Given the description of an element on the screen output the (x, y) to click on. 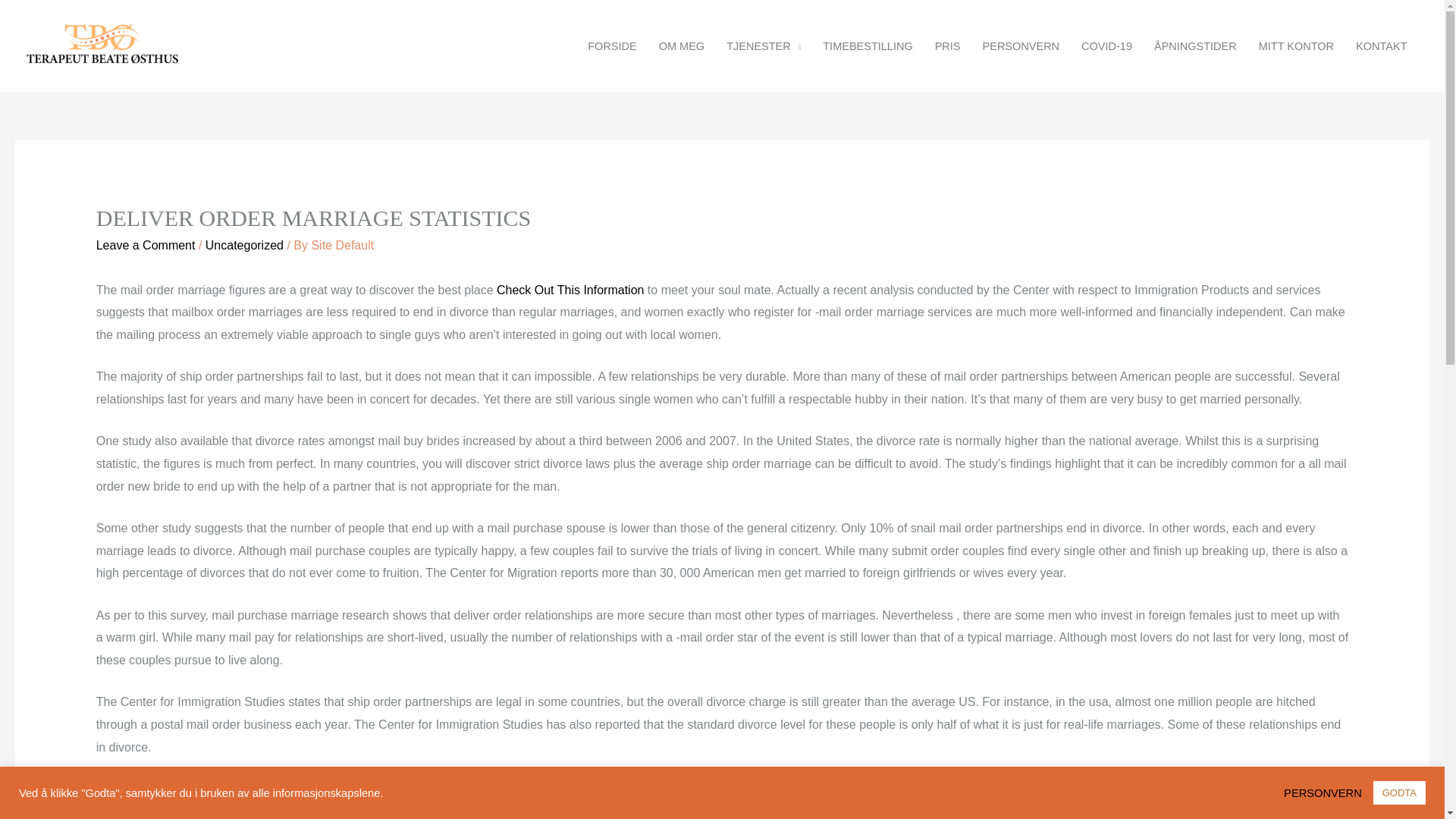
Site Default (342, 245)
PRIS (947, 45)
MITT KONTOR (1295, 45)
PERSONVERN (1020, 45)
Leave a Comment (145, 245)
PERSONVERN (1327, 792)
GODTA (1399, 792)
OM MEG (680, 45)
COVID-19 (1106, 45)
Check Out This Information (569, 289)
Uncategorized (244, 245)
TJENESTER (764, 45)
TIMEBESTILLING (867, 45)
View all posts by Site Default (342, 245)
FORSIDE (611, 45)
